Given the description of an element on the screen output the (x, y) to click on. 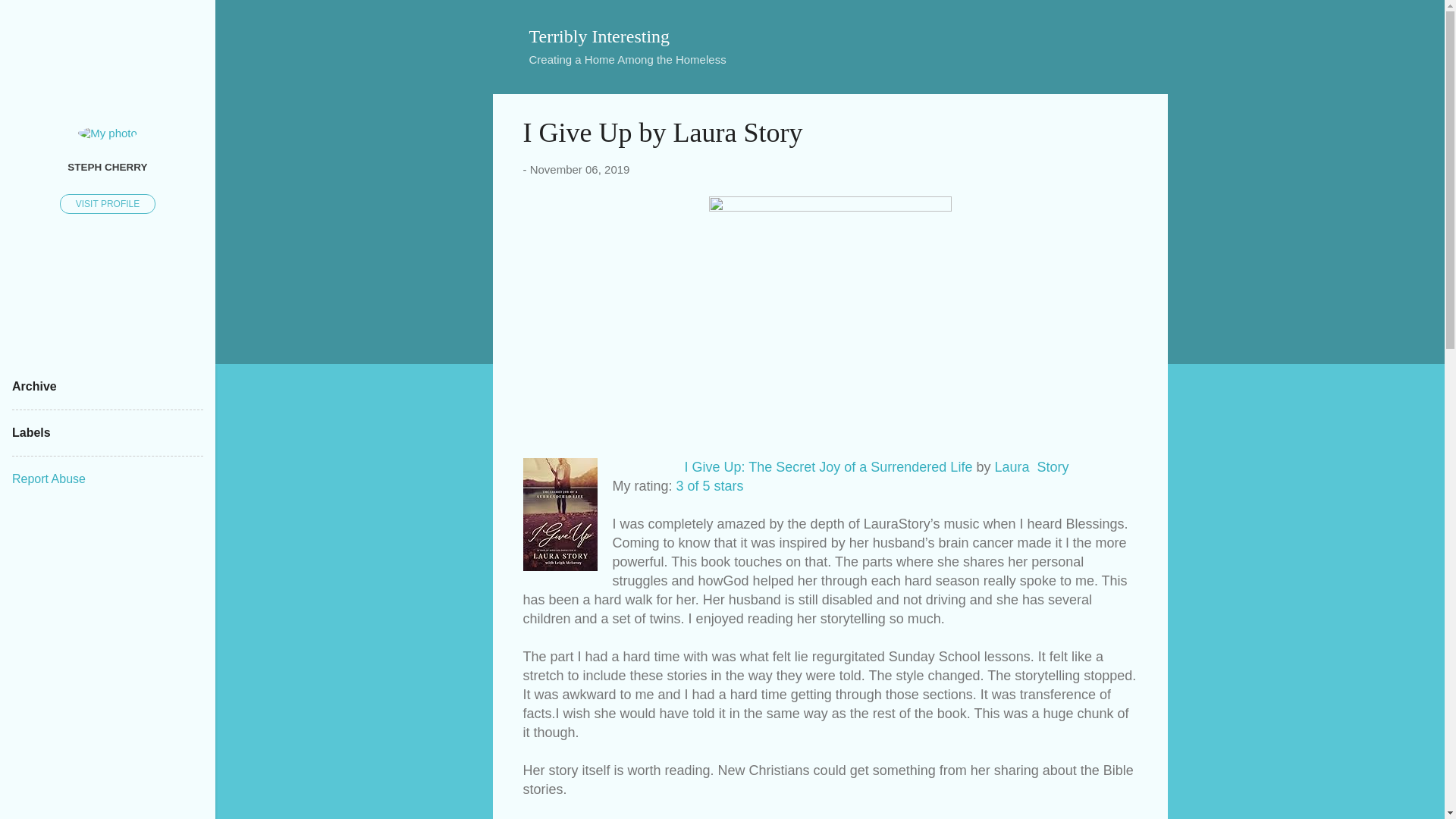
I Give Up: The Secret Joy of a Surrendered Life (828, 467)
VISIT PROFILE (107, 203)
3 of 5 stars (710, 485)
November 06, 2019 (579, 169)
Search (29, 18)
permanent link (579, 169)
STEPH CHERRY (107, 166)
Laura  Story (1031, 467)
Terribly Interesting (599, 35)
